Given the description of an element on the screen output the (x, y) to click on. 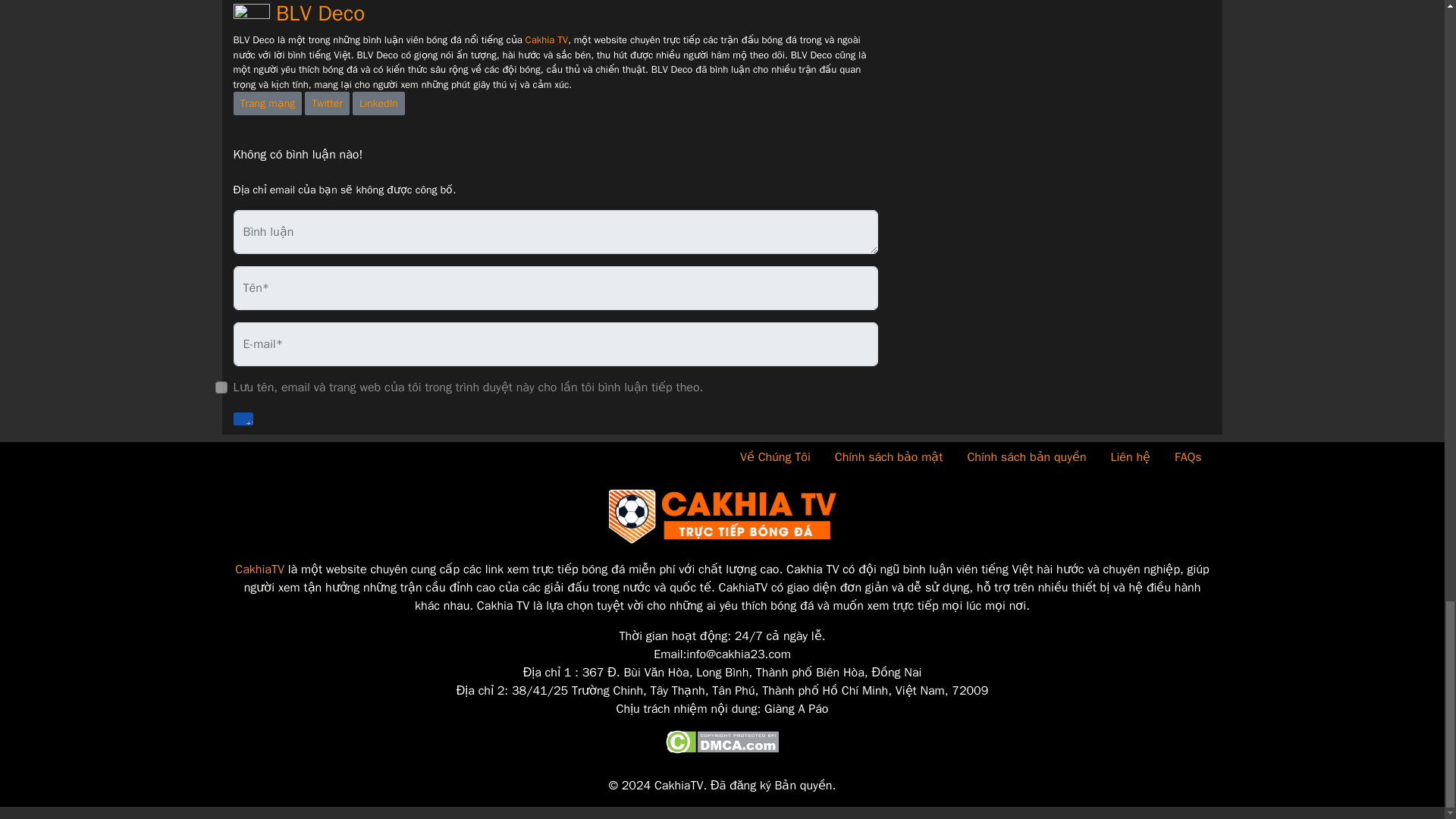
Twitter (326, 103)
LinkedIn (378, 103)
Cakhia TV (546, 39)
yes (221, 387)
LinkedIn (378, 103)
DMCA.com Protection Status (721, 741)
 BLV Deco (298, 13)
Twitter (326, 103)
